Given the description of an element on the screen output the (x, y) to click on. 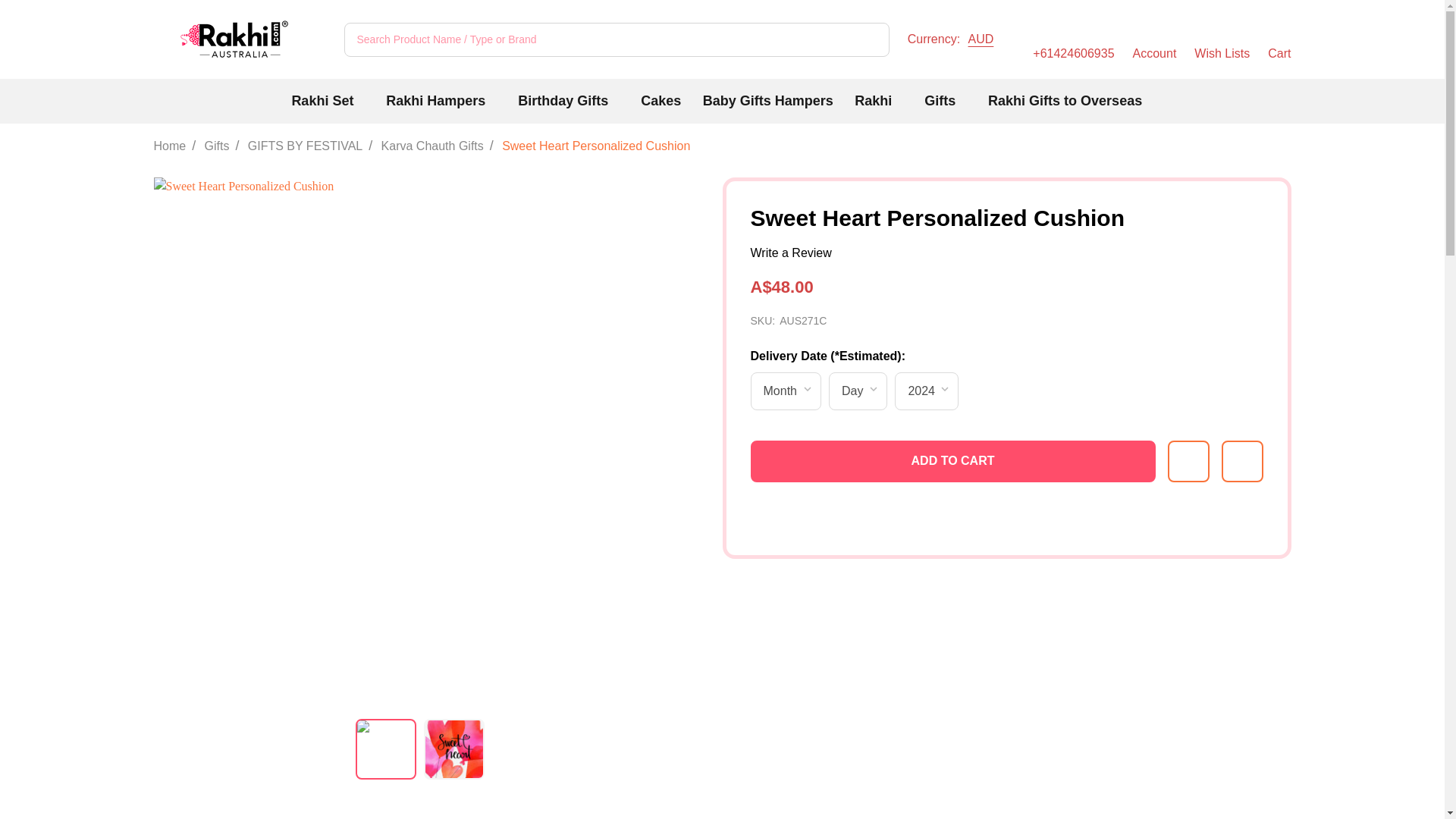
More (964, 100)
Rakhi Hampers (436, 100)
SEARCH (872, 38)
More (616, 100)
Account (1154, 38)
More (956, 39)
Wish Lists (362, 100)
Cart (1221, 38)
Account (1279, 38)
More (1154, 38)
Cart (900, 100)
Rakhi Set (1279, 38)
More (322, 100)
Wish Lists (493, 100)
